Given the description of an element on the screen output the (x, y) to click on. 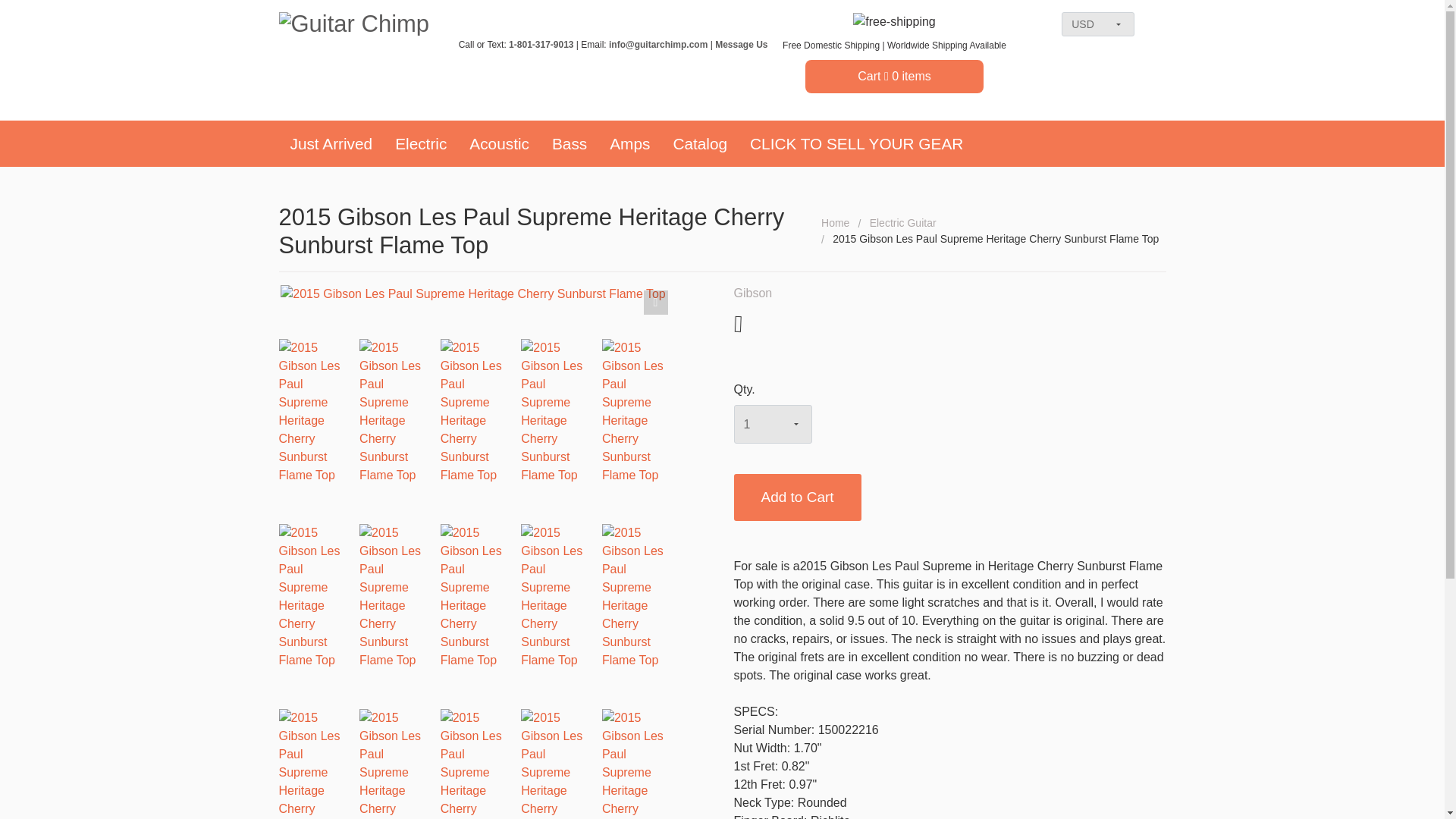
Message Us (740, 44)
Catalog (699, 143)
Home (834, 223)
CLICK TO SELL YOUR GEAR (856, 143)
Guitar Chimp (361, 24)
Electric (421, 143)
Electric Guitar (902, 223)
1-801-317-9013 (540, 44)
Amps (629, 143)
Acoustic (499, 143)
